Given the description of an element on the screen output the (x, y) to click on. 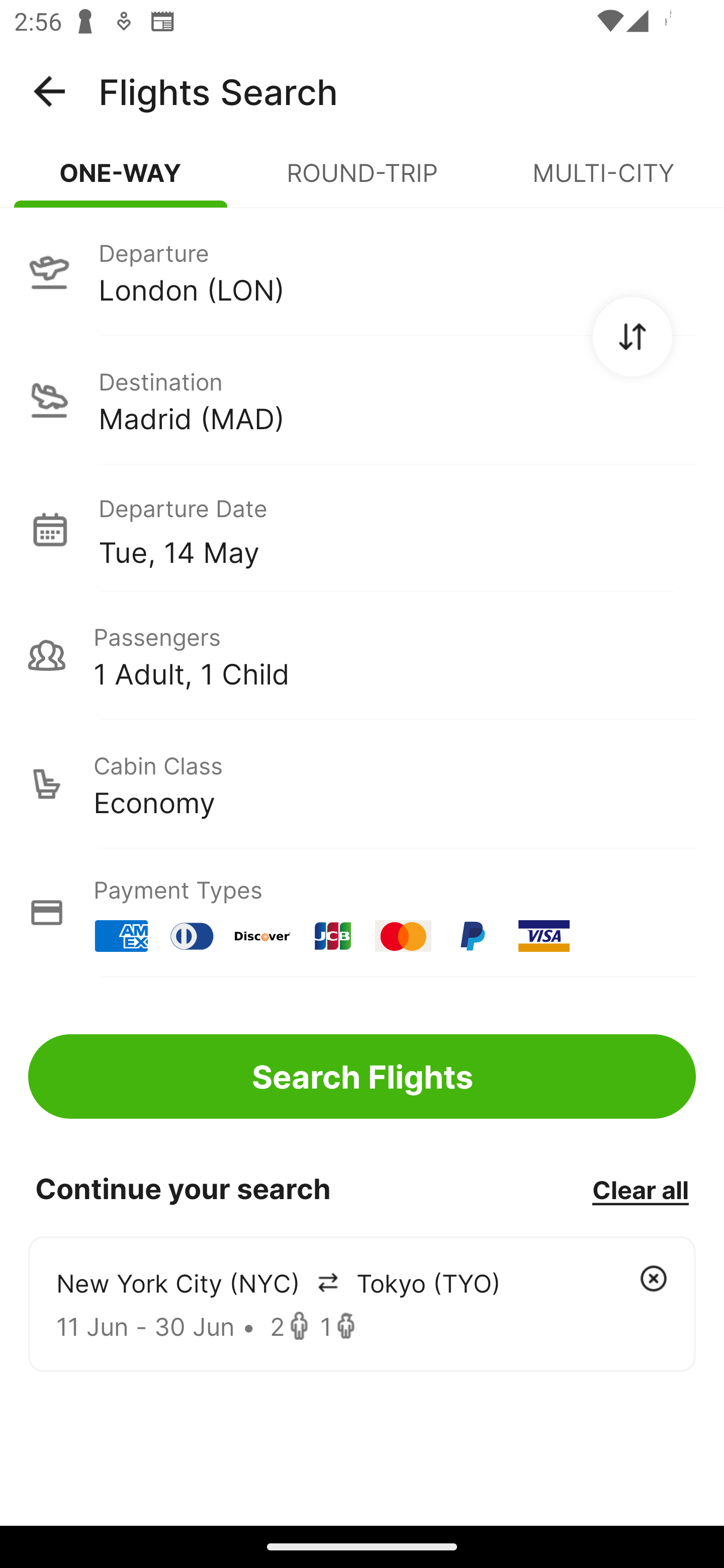
ONE-WAY (120, 180)
ROUND-TRIP (361, 180)
MULTI-CITY (603, 180)
Departure London (LON) (362, 270)
Destination Madrid (MAD) (362, 400)
Departure Date Tue, 14 May (396, 528)
Passengers 1 Adult, 1 Child (362, 655)
Cabin Class Economy (362, 783)
Payment Types (362, 912)
Search Flights (361, 1075)
Clear all (640, 1189)
